Given the description of an element on the screen output the (x, y) to click on. 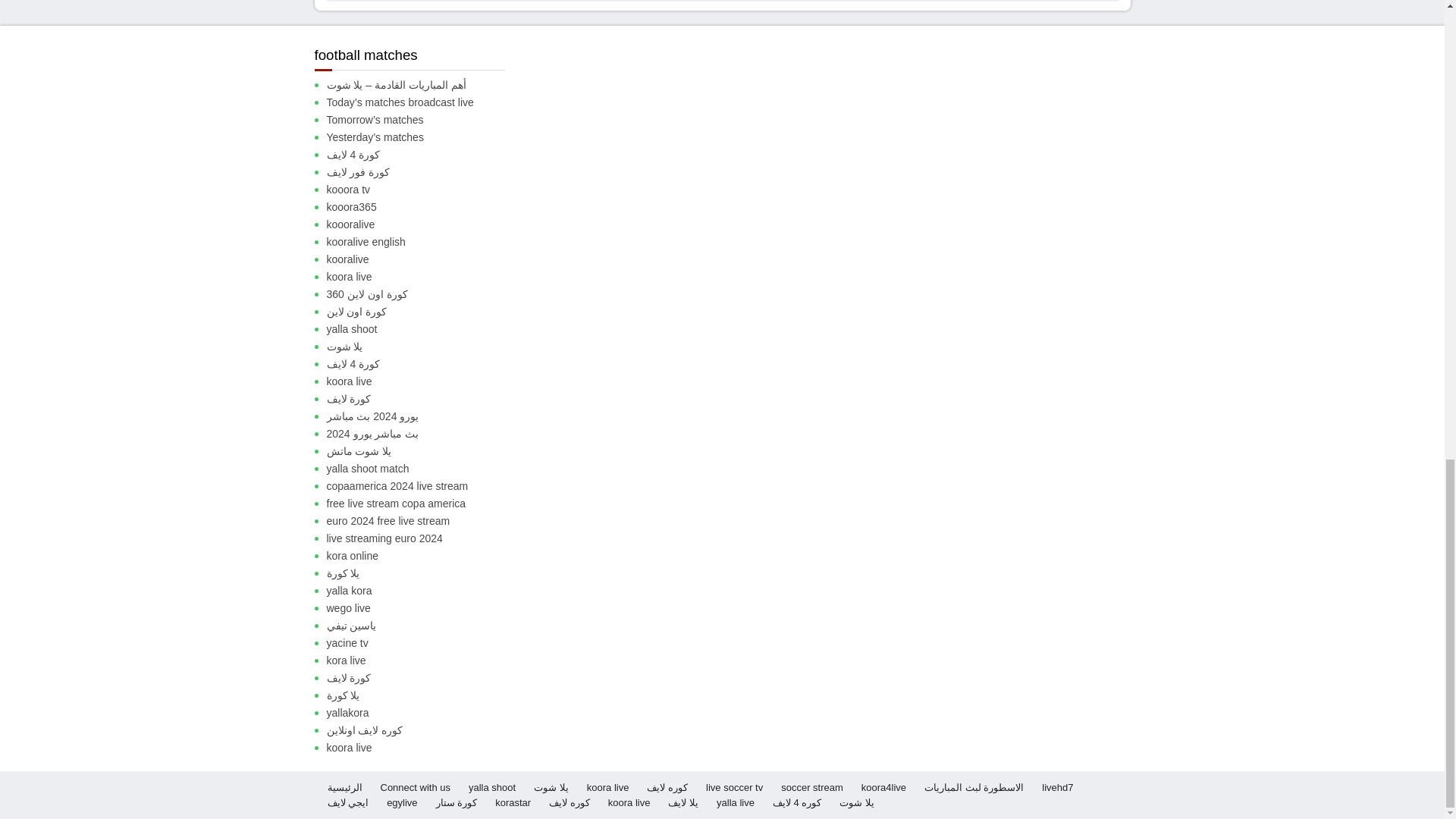
koooralive (421, 224)
koora live (421, 277)
kooora365 (421, 207)
kooora tv (421, 189)
kooralive (421, 259)
koora live (421, 381)
kooralive english (421, 242)
yalla shoot (421, 329)
